Given the description of an element on the screen output the (x, y) to click on. 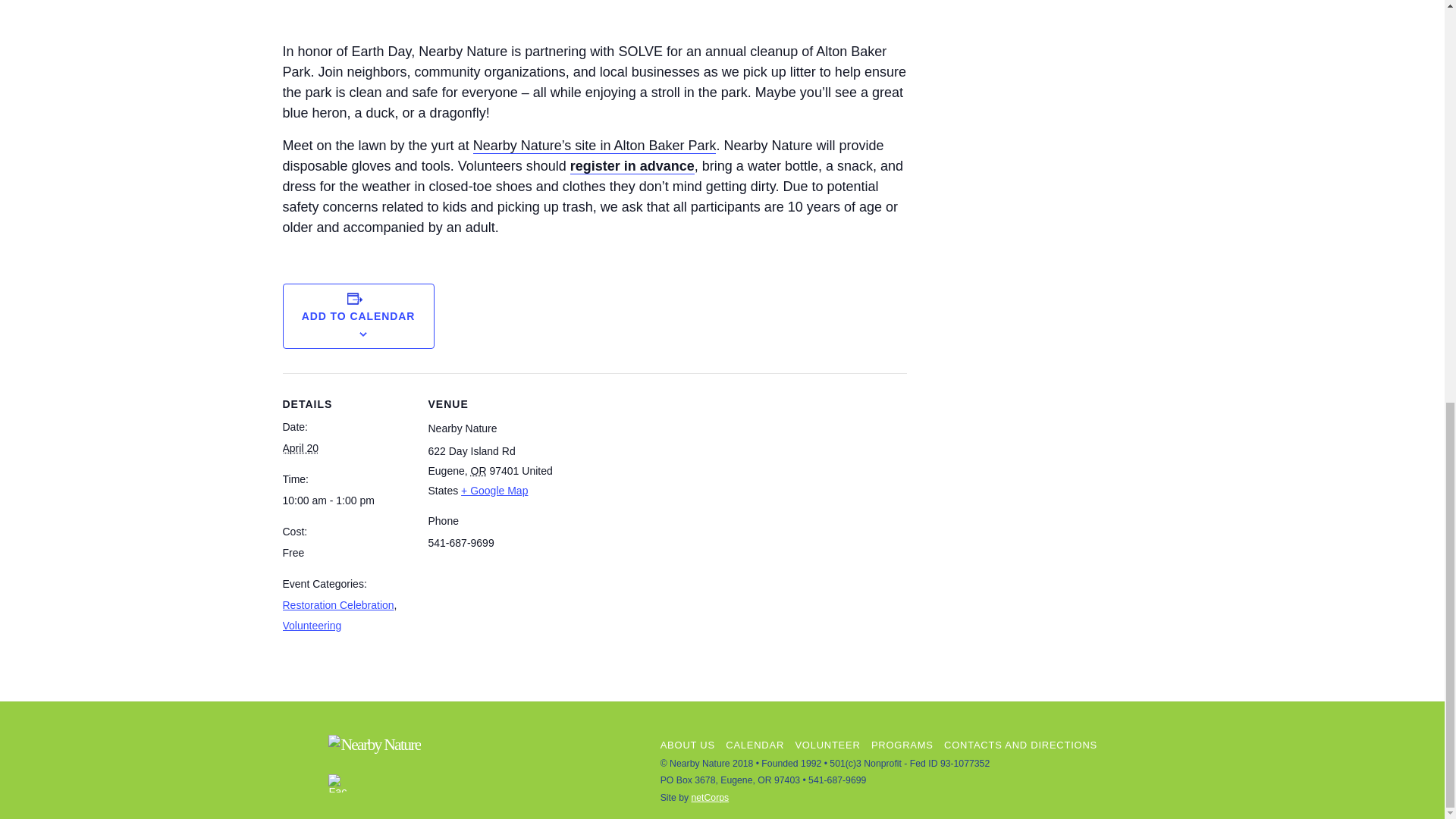
2024-04-20 (299, 448)
Oregon (478, 470)
Google maps iframe displaying the address to Nearby Nature (653, 477)
Click to view a Google Map (494, 490)
Nearby Nature (374, 744)
2024-04-20 (345, 500)
